Given the description of an element on the screen output the (x, y) to click on. 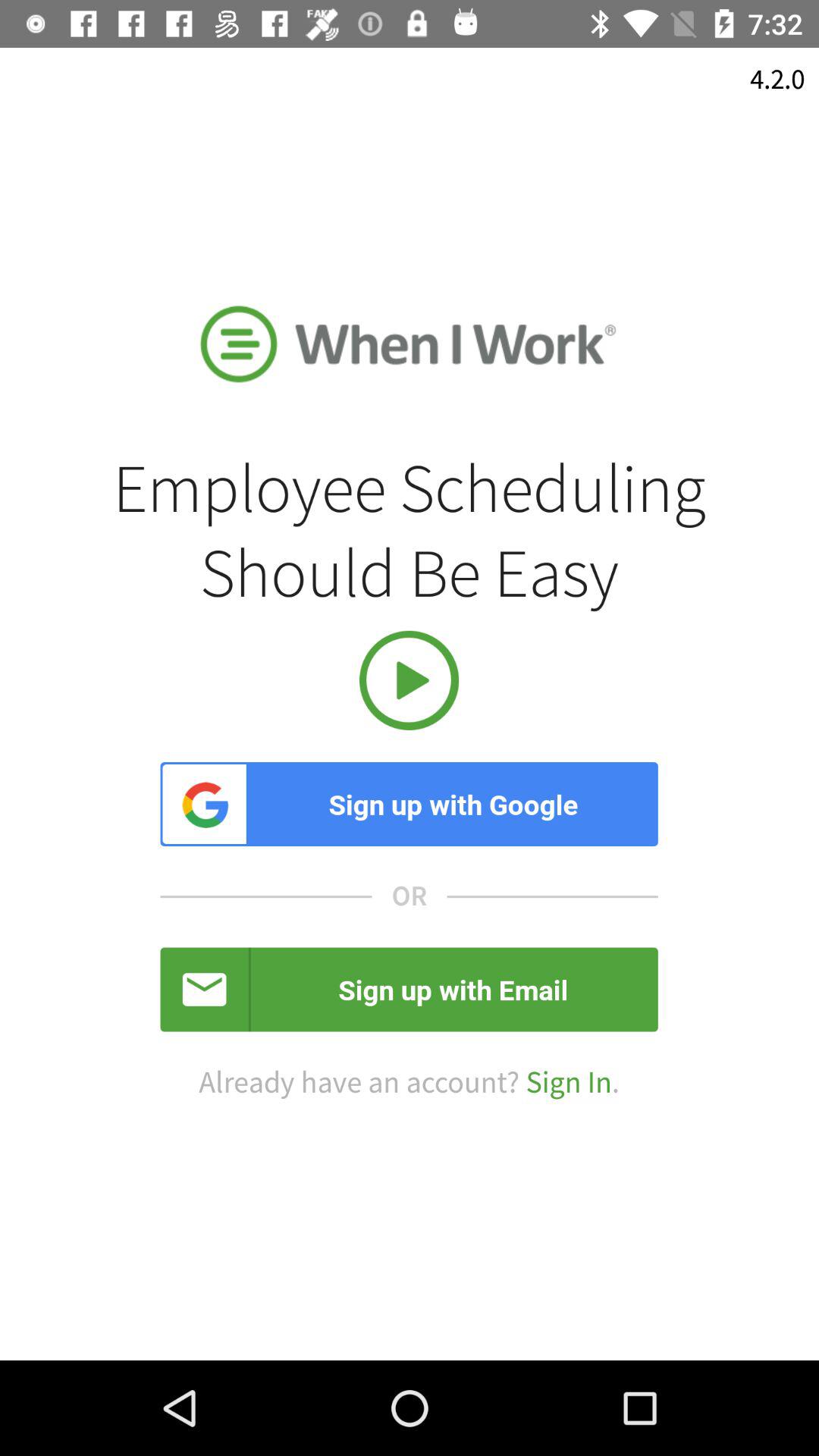
tap the item above the sign up with item (408, 680)
